Given the description of an element on the screen output the (x, y) to click on. 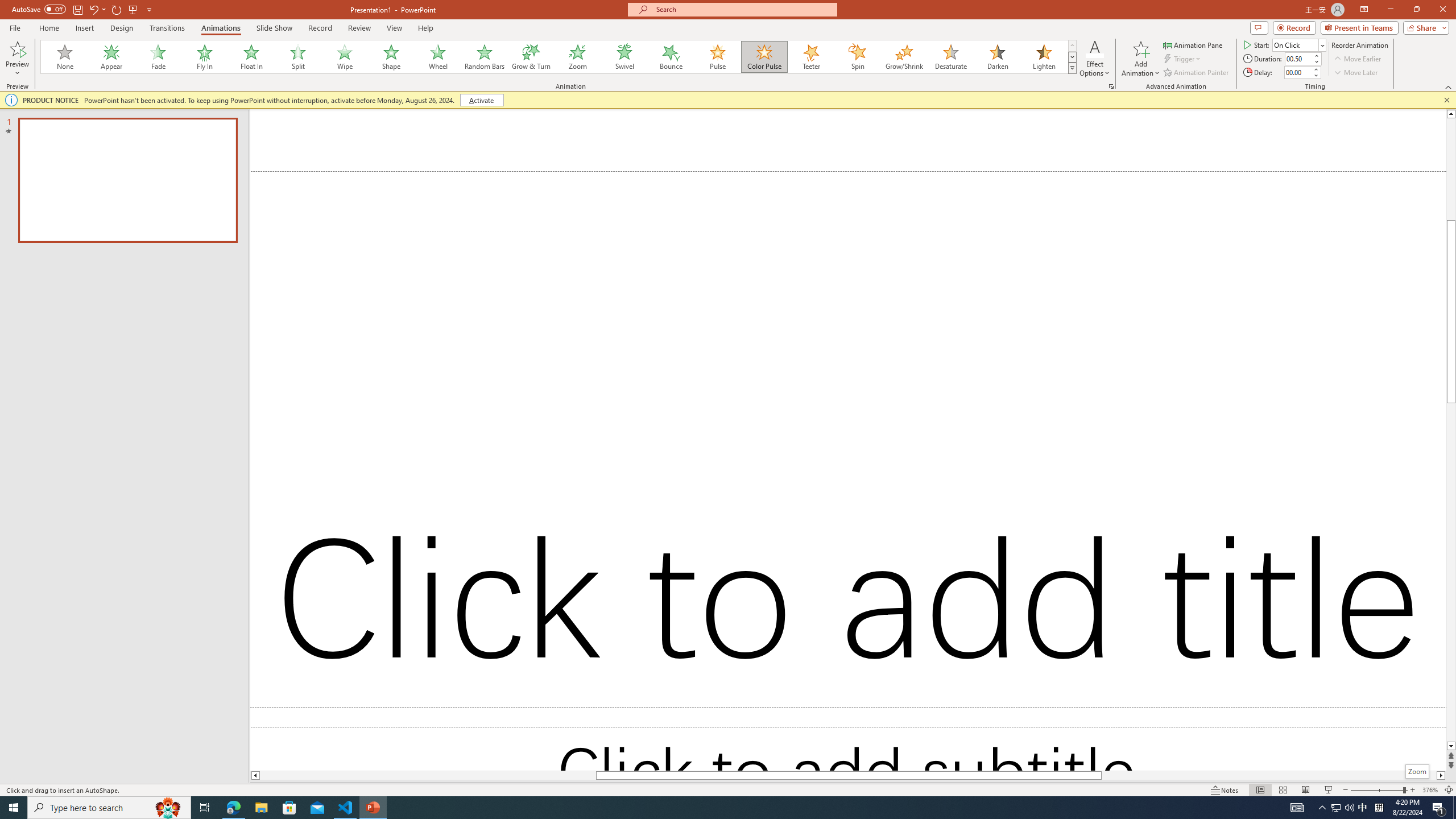
Teeter (810, 56)
Darken (997, 56)
Move Earlier (1357, 58)
Open (1321, 44)
Appear (111, 56)
Shape (391, 56)
Animation Duration (1298, 58)
